Given the description of an element on the screen output the (x, y) to click on. 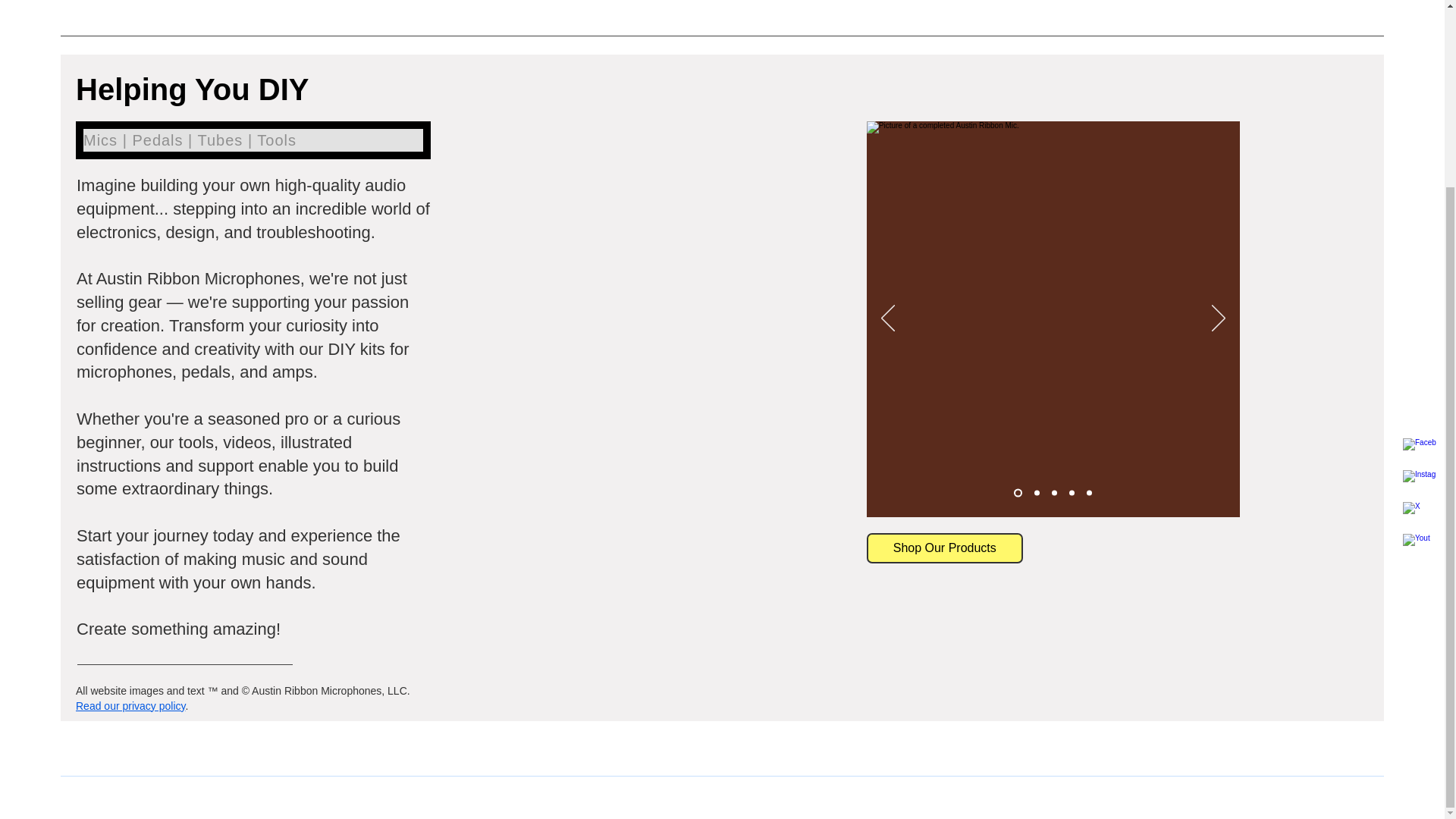
Ribbon Microphone Kits (482, 4)
Home (398, 4)
DIY Workshops and Info (941, 4)
Contact Us (1036, 4)
The Hot Holder Soldering Tool (806, 4)
Shop Our Products (944, 548)
Guitar Pedal Kits (588, 4)
Read our privacy policy (129, 705)
DIY Tube Amp Kits (683, 4)
